Given the description of an element on the screen output the (x, y) to click on. 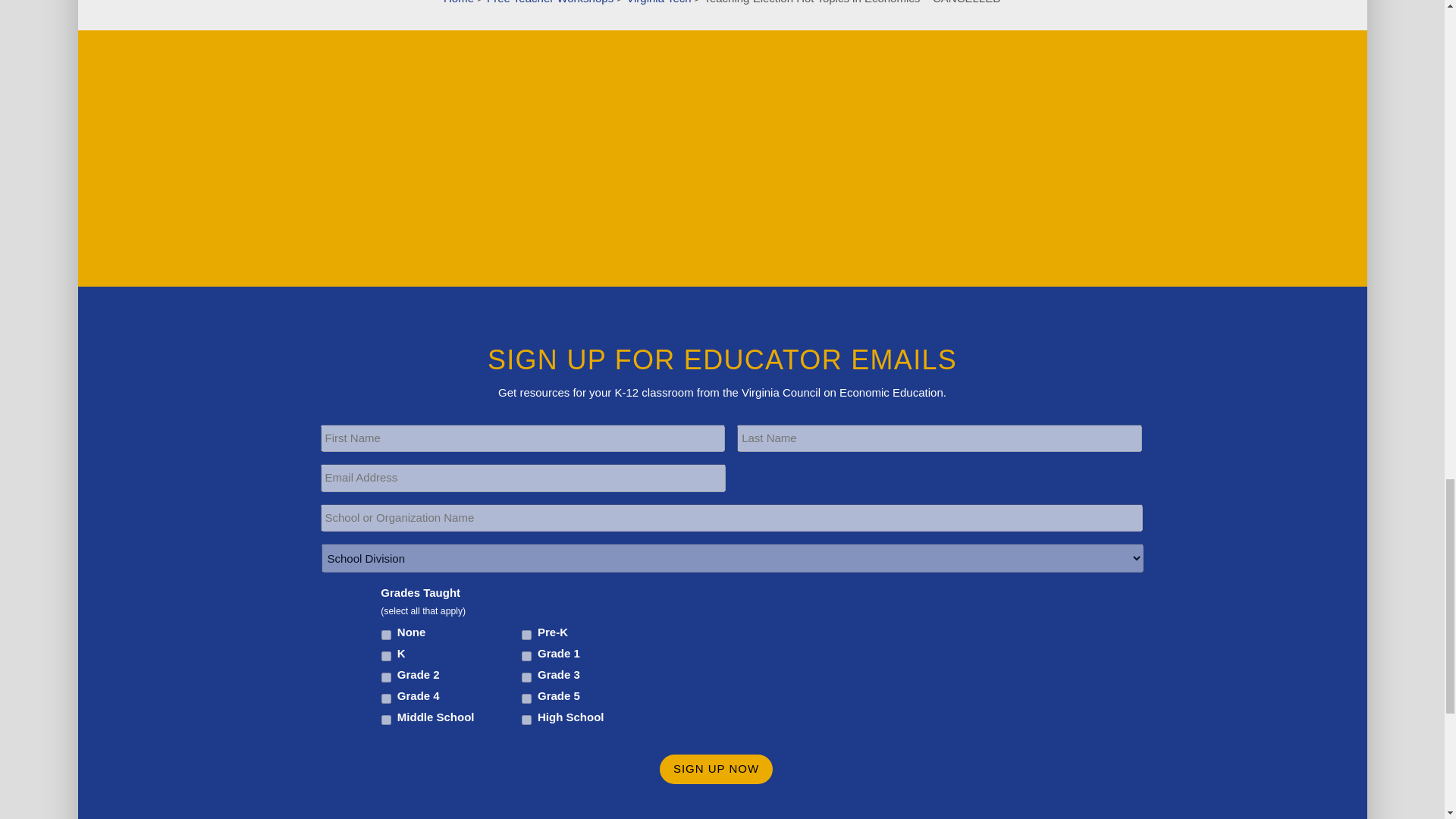
None (386, 634)
Grade 1 (526, 655)
Pre-K (526, 634)
Grade 4 (386, 698)
Go to Free Teacher Workshops. (549, 2)
K (386, 655)
Go to the Virginia Tech Centercat archives. (658, 2)
Middle School (386, 719)
Grade 5 (526, 698)
Sign Up Now (716, 768)
Grade 2 (386, 677)
Grade 3 (526, 677)
High School (526, 719)
Go to VCEE Virginia Council on Economic Education. (459, 2)
